Given the description of an element on the screen output the (x, y) to click on. 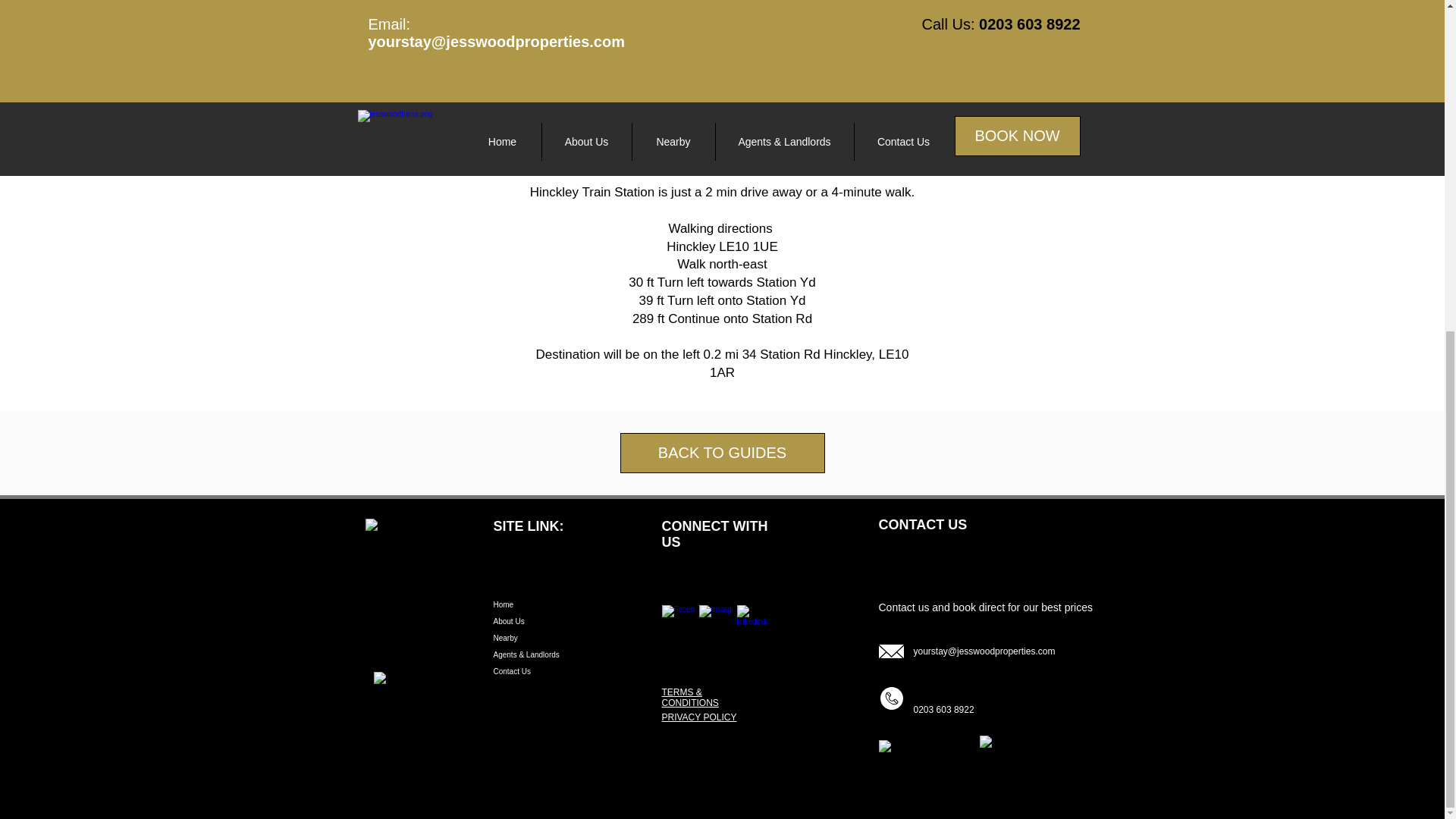
Nearby (562, 638)
BACK TO GUIDES (722, 453)
Home (562, 605)
About Us (562, 621)
PRIVACY POLICY (698, 716)
Contact Us (562, 671)
